Given the description of an element on the screen output the (x, y) to click on. 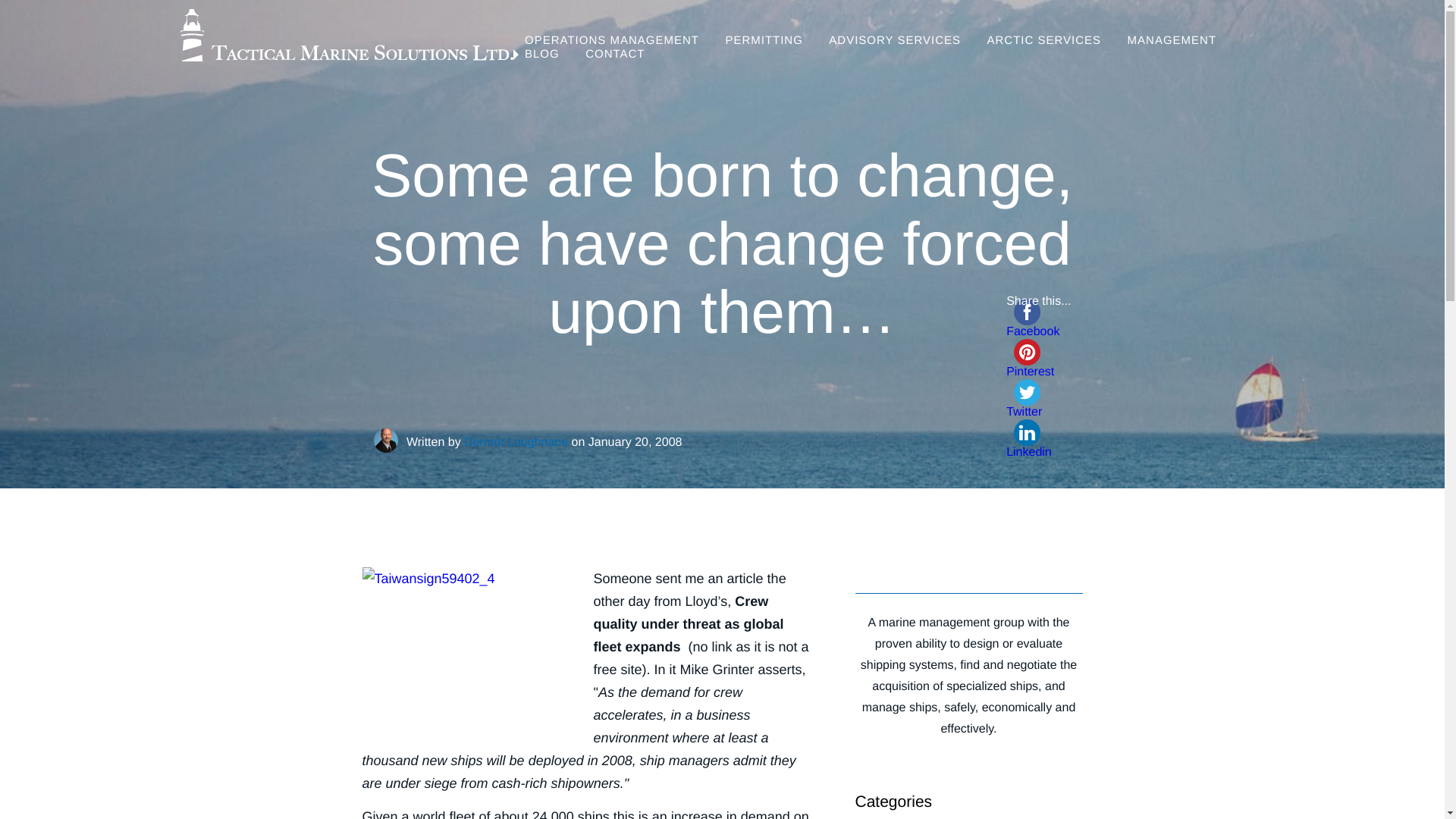
ADVISORY SERVICES (894, 40)
BLOG (541, 53)
Pinterest (1038, 371)
facebook (1027, 311)
Linkedin (1038, 452)
OPERATIONS MANAGEMENT (611, 40)
Facebook (1038, 331)
linkedin (1027, 432)
MANAGEMENT (1172, 40)
PERMITTING (763, 40)
Dermot Loughnane (515, 441)
pinterest (1027, 352)
CONTACT (609, 53)
Facebook (1038, 332)
Linkedin (1038, 442)
